Given the description of an element on the screen output the (x, y) to click on. 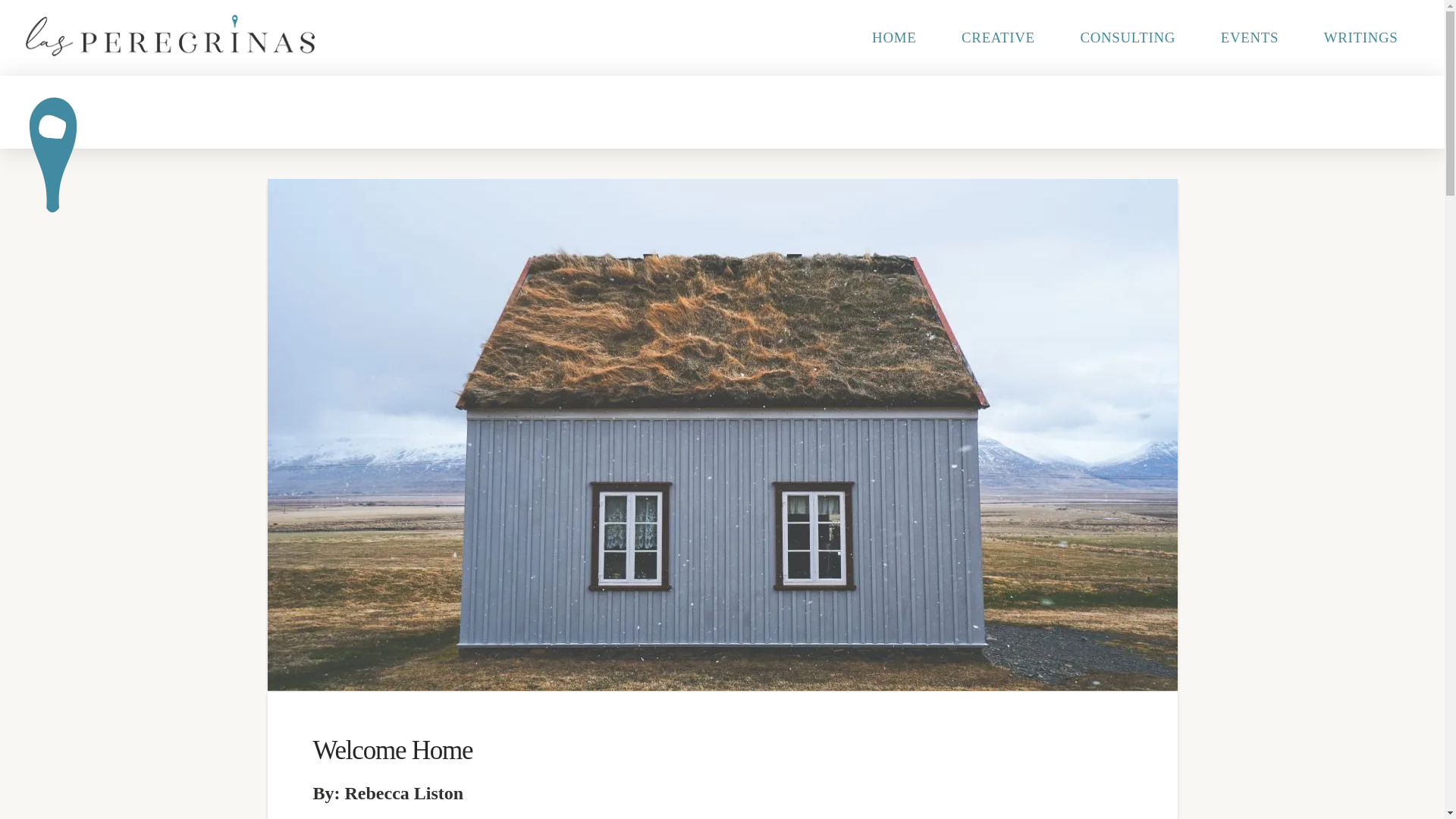
HOME (893, 38)
WRITINGS (1360, 38)
CREATIVE (998, 38)
CONSULTING (1126, 38)
EVENTS (1249, 38)
